Given the description of an element on the screen output the (x, y) to click on. 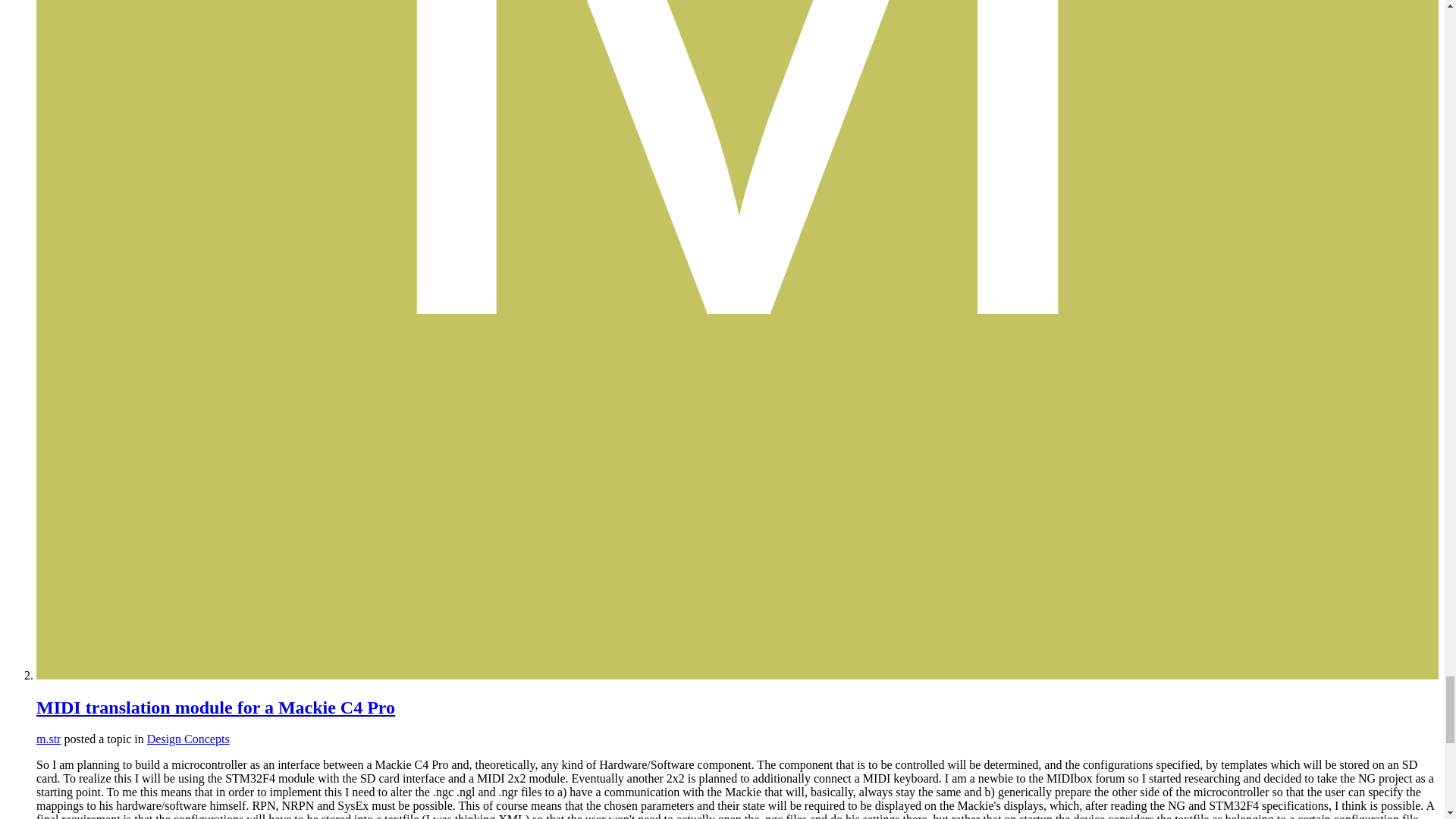
Go to m.str's profile (48, 738)
